Given the description of an element on the screen output the (x, y) to click on. 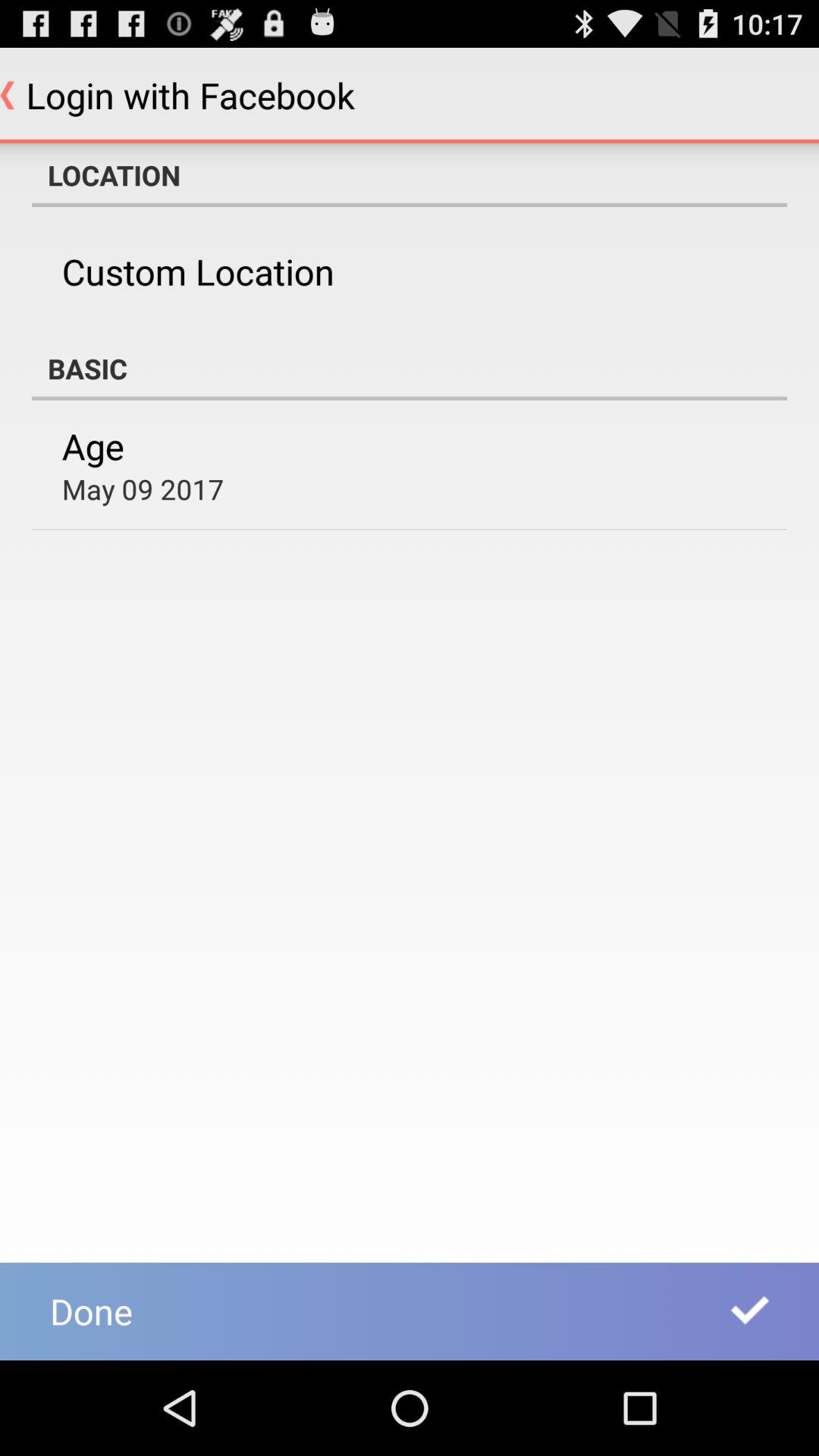
click icon on the left (142, 488)
